Given the description of an element on the screen output the (x, y) to click on. 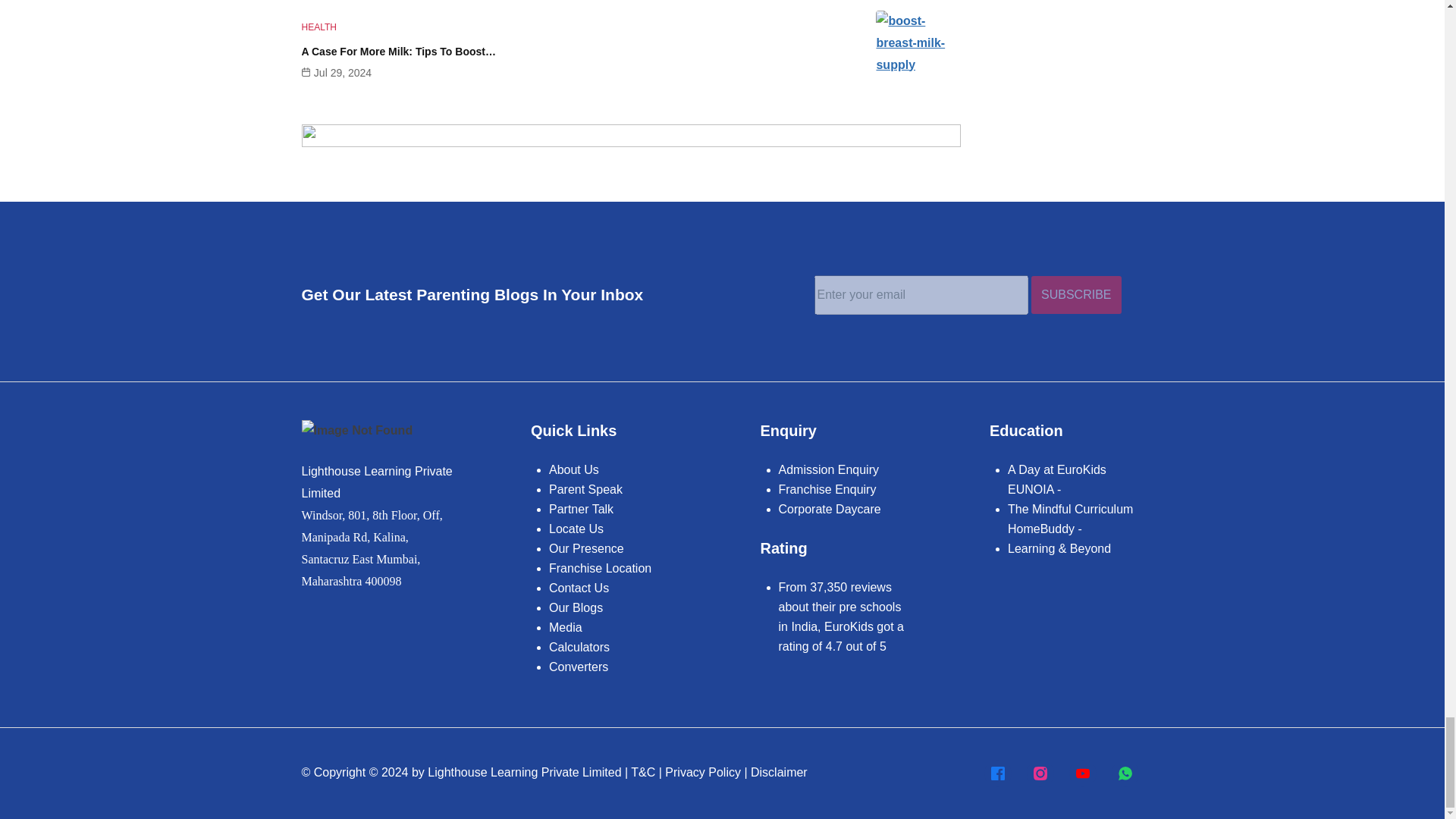
Subscribe (1075, 294)
